Given the description of an element on the screen output the (x, y) to click on. 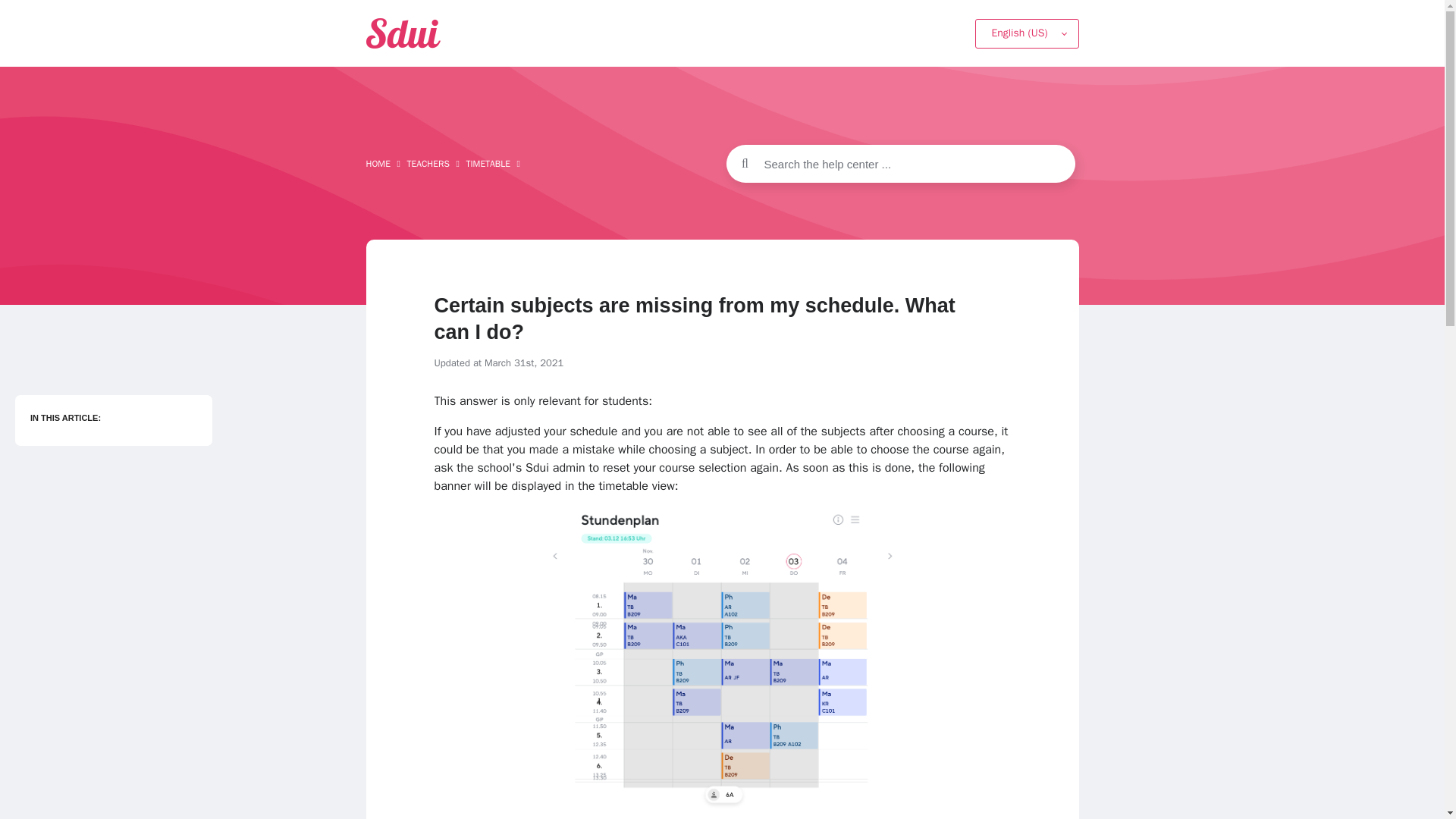
TIMETABLE (488, 163)
TEACHERS (427, 163)
HOME (377, 163)
